Given the description of an element on the screen output the (x, y) to click on. 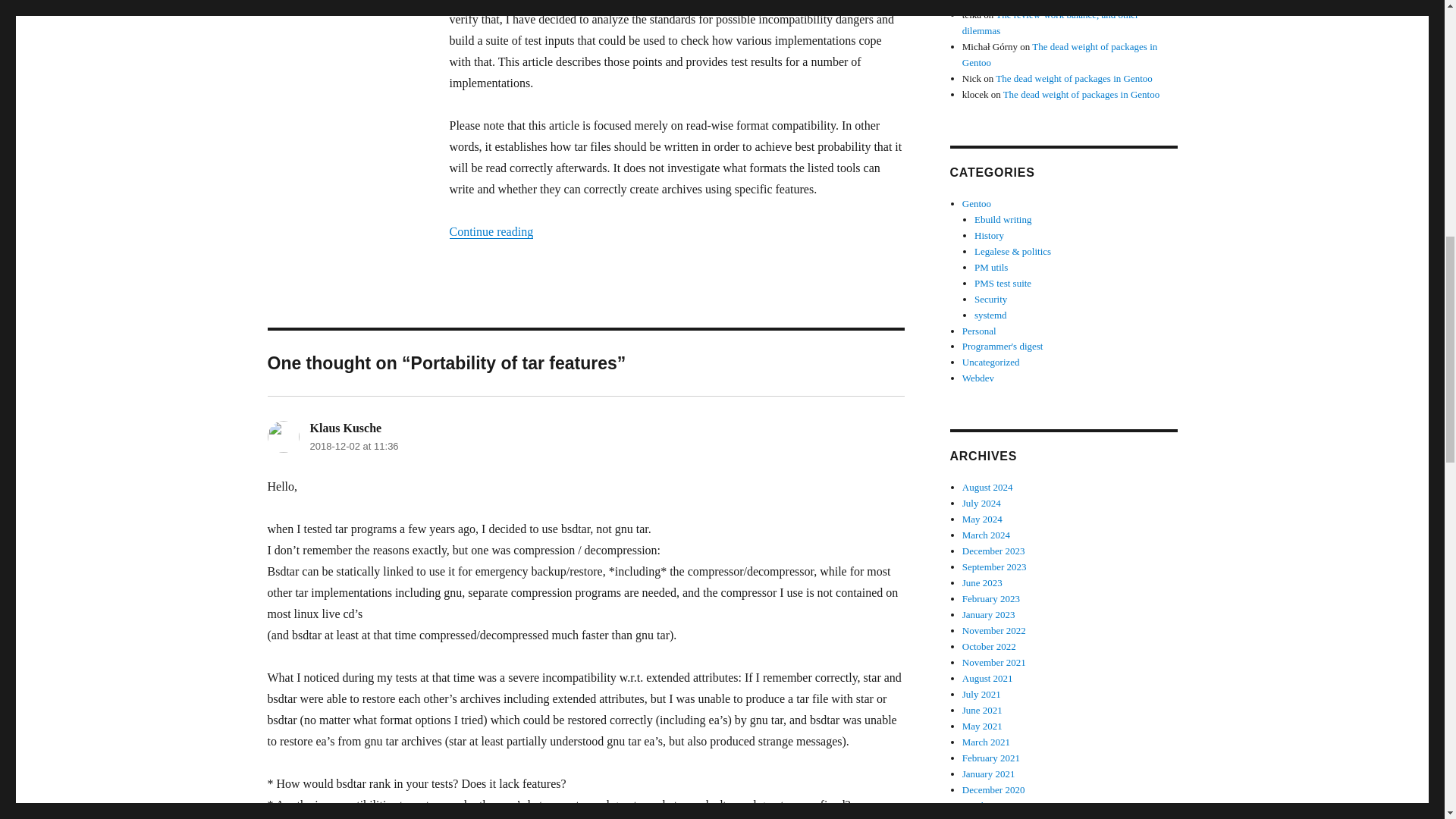
Personal (978, 329)
Security (990, 298)
Webdev (978, 378)
History (989, 235)
The dead weight of packages in Gentoo (1059, 53)
systemd (990, 315)
Uncategorized (991, 361)
The dead weight of packages in Gentoo (1073, 78)
2018-12-02 at 11:36 (352, 446)
PM utils (990, 266)
